Given the description of an element on the screen output the (x, y) to click on. 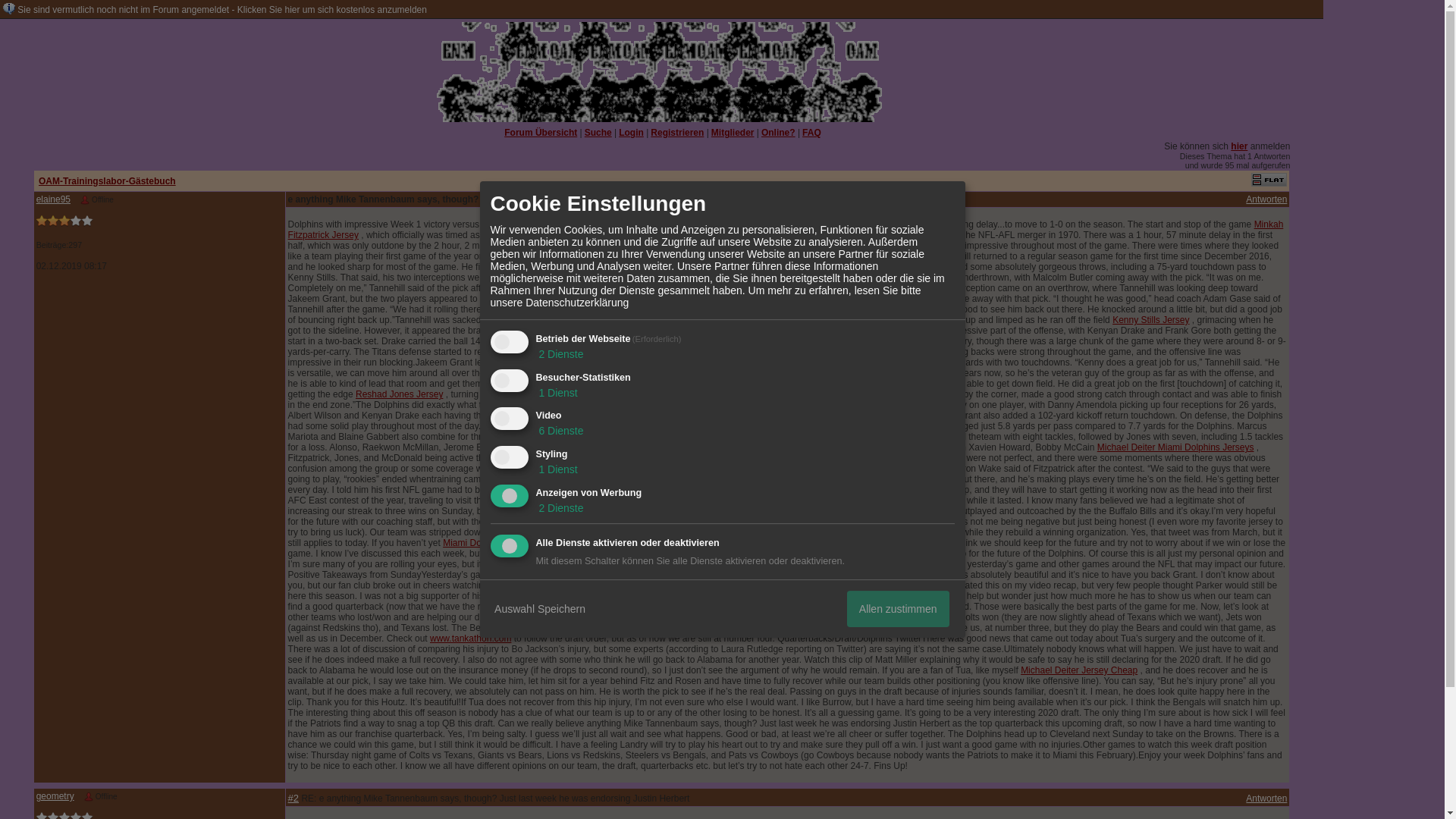
6 Dienste (559, 430)
FAQ (811, 132)
1 Dienst (555, 469)
Suche (598, 132)
hier (1238, 145)
Antworten (1266, 798)
2 Dienste (559, 354)
Antworten (1266, 199)
geometry (55, 796)
Mitglieder (732, 132)
Login (630, 132)
Online? (777, 132)
2 Dienste (559, 508)
Michael Deiter Jersey Cheap (1078, 670)
Michael Deiter Miami Dolphins Jerseys (1175, 447)
